Given the description of an element on the screen output the (x, y) to click on. 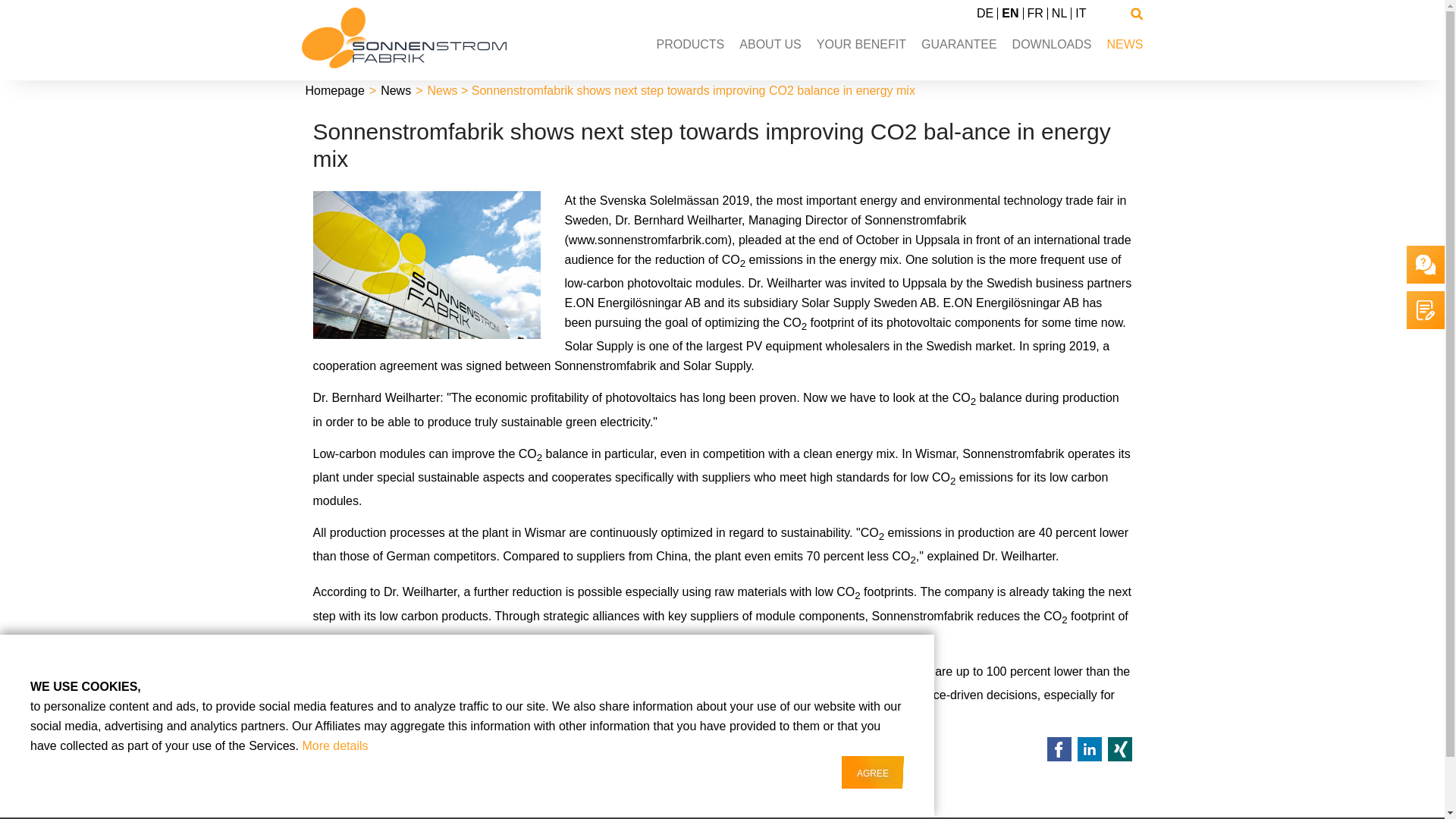
Xing (1118, 749)
News (395, 90)
DOWNLOADS (1051, 44)
GUARANTEE (959, 44)
PRODUCTS (690, 44)
NL (1059, 12)
Your Benefit (860, 44)
About us (770, 44)
LinkedIn (1088, 749)
Products (690, 44)
